Given the description of an element on the screen output the (x, y) to click on. 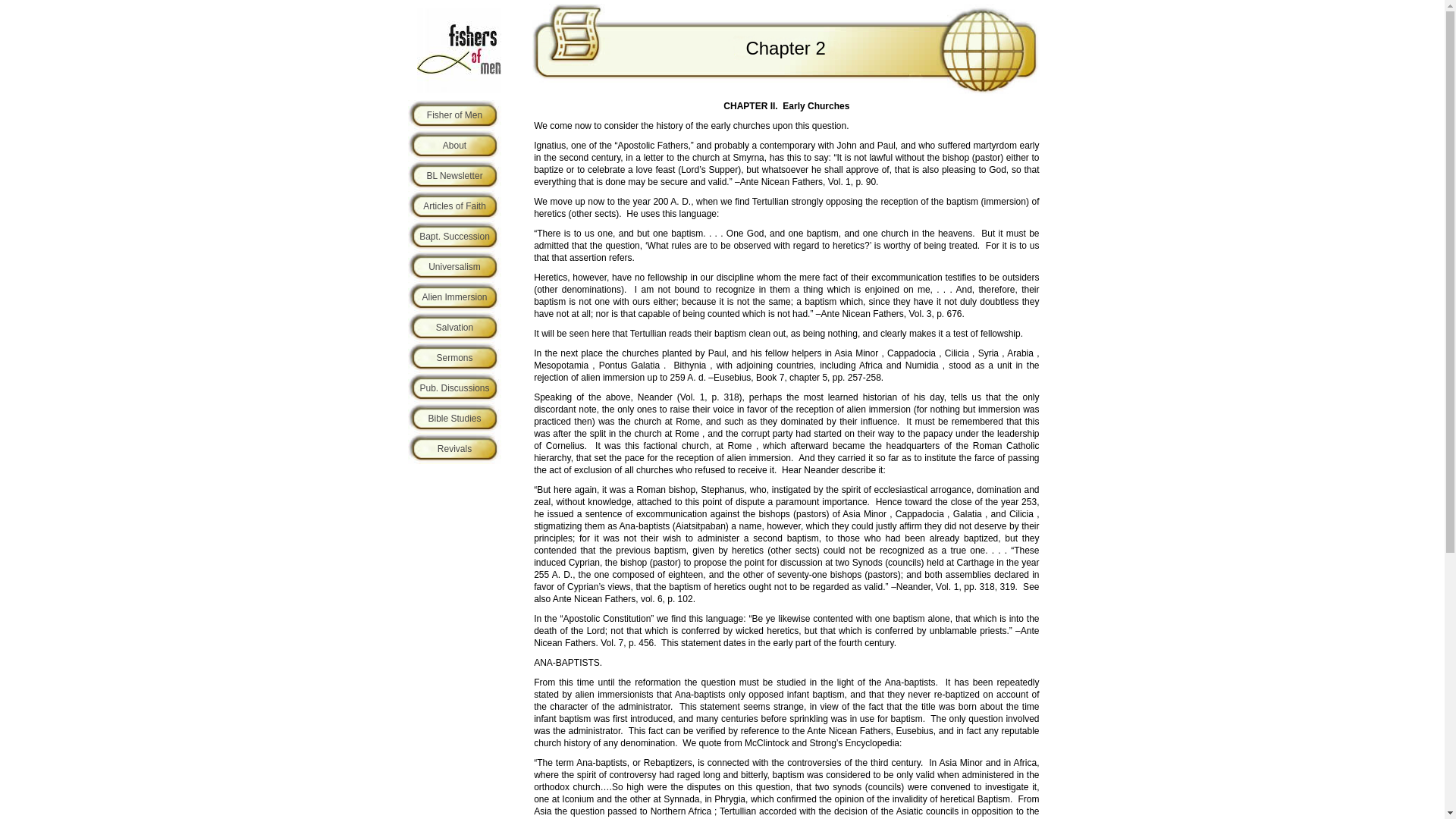
Universalism (453, 266)
Articles of Faith (453, 205)
Pub. Discussions (453, 388)
Bible Studies (453, 418)
Sermons (453, 358)
Revivals (453, 449)
About (453, 145)
Fisher of Men (453, 114)
Alien Immersion (453, 296)
BL Newsletter (453, 175)
Salvation (453, 327)
Bapt. Succession (453, 236)
